Given the description of an element on the screen output the (x, y) to click on. 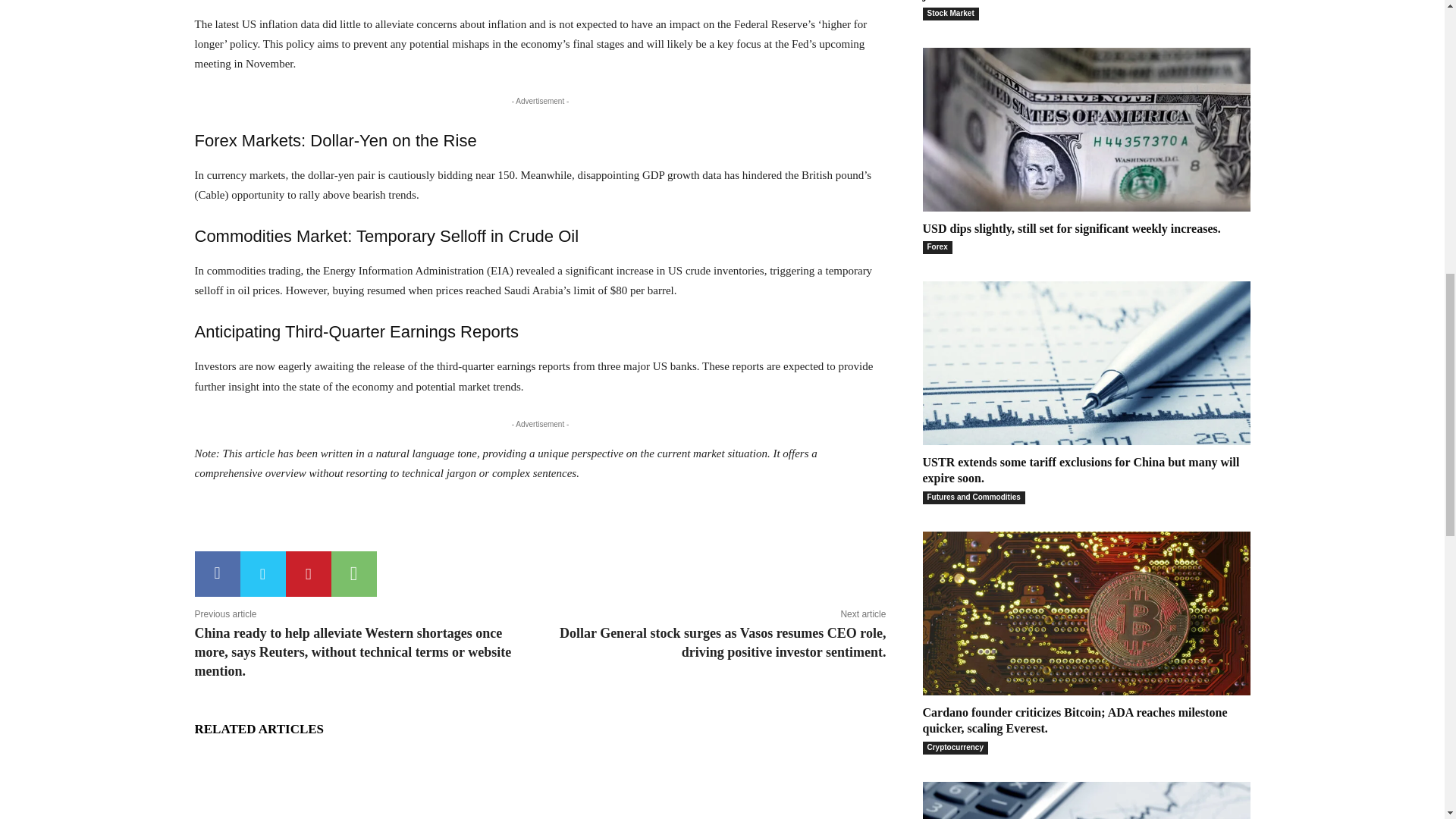
WhatsApp (352, 574)
Twitter (262, 574)
Facebook (216, 574)
Pinterest (307, 574)
